Given the description of an element on the screen output the (x, y) to click on. 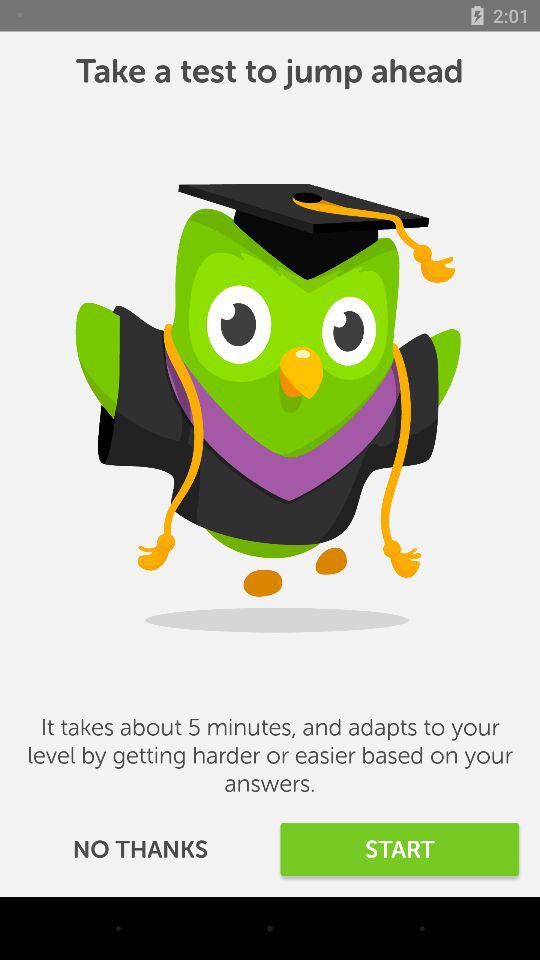
flip to start item (399, 849)
